Given the description of an element on the screen output the (x, y) to click on. 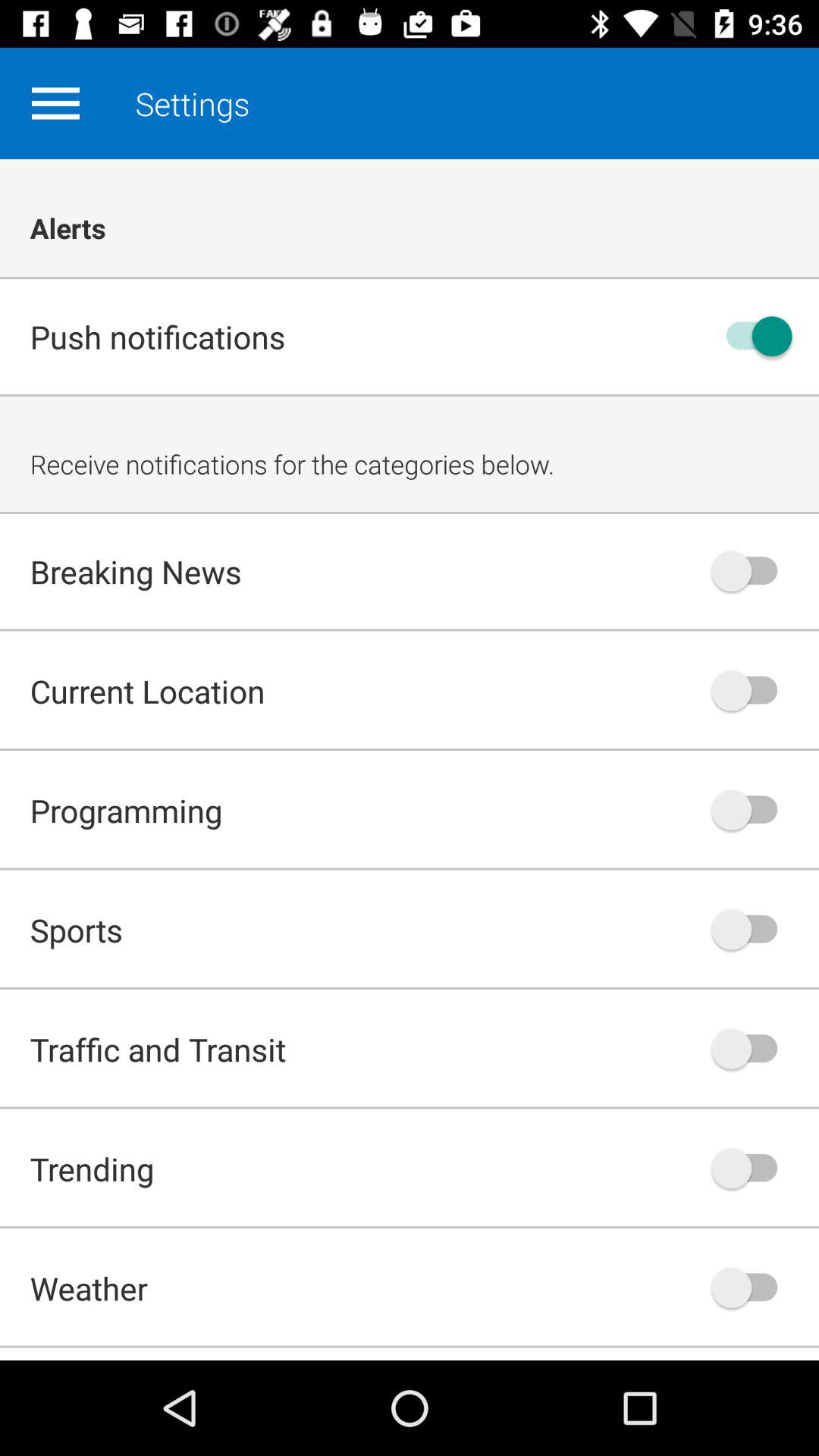
switch on programming (751, 810)
